Given the description of an element on the screen output the (x, y) to click on. 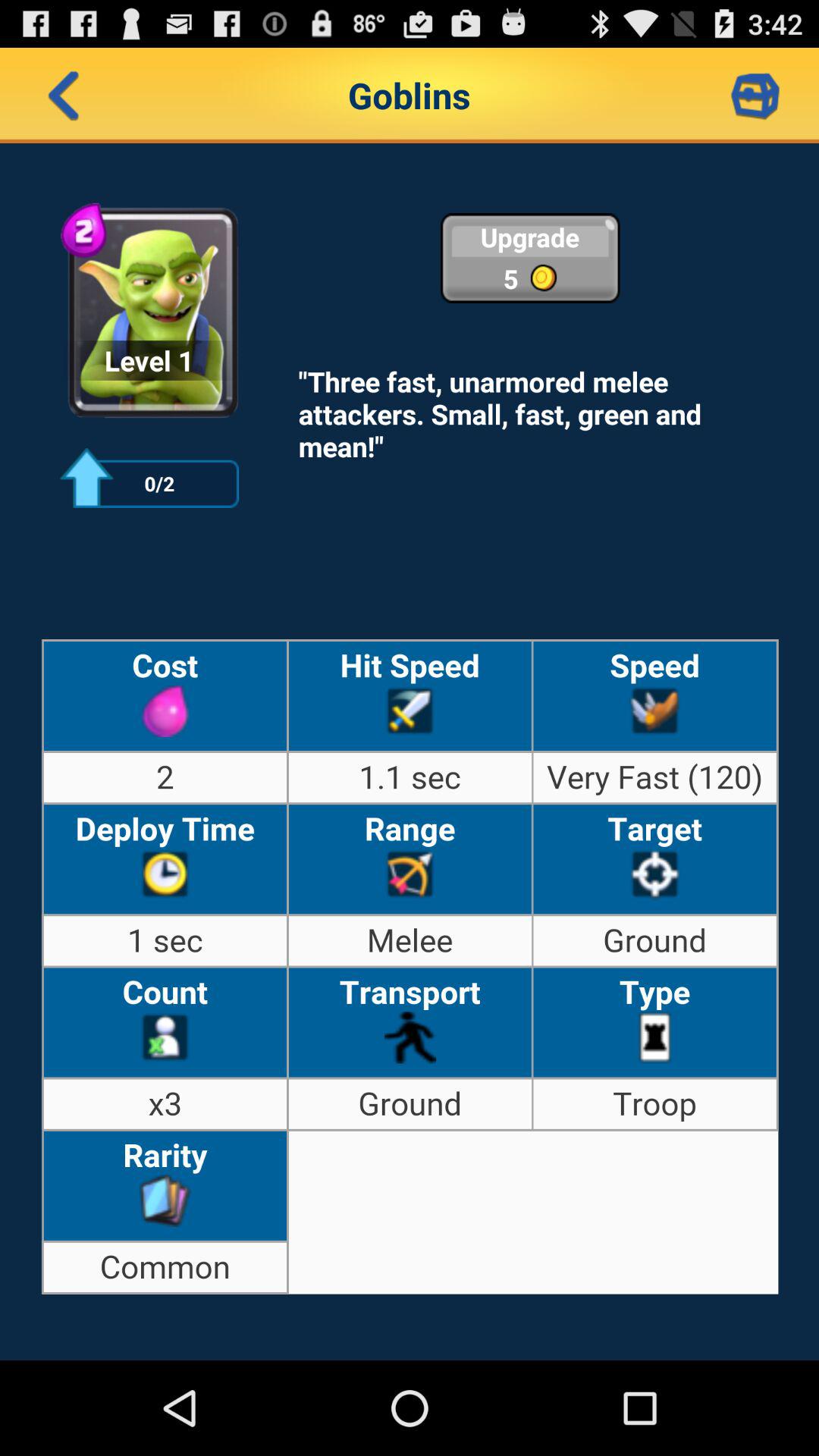
back (63, 95)
